Given the description of an element on the screen output the (x, y) to click on. 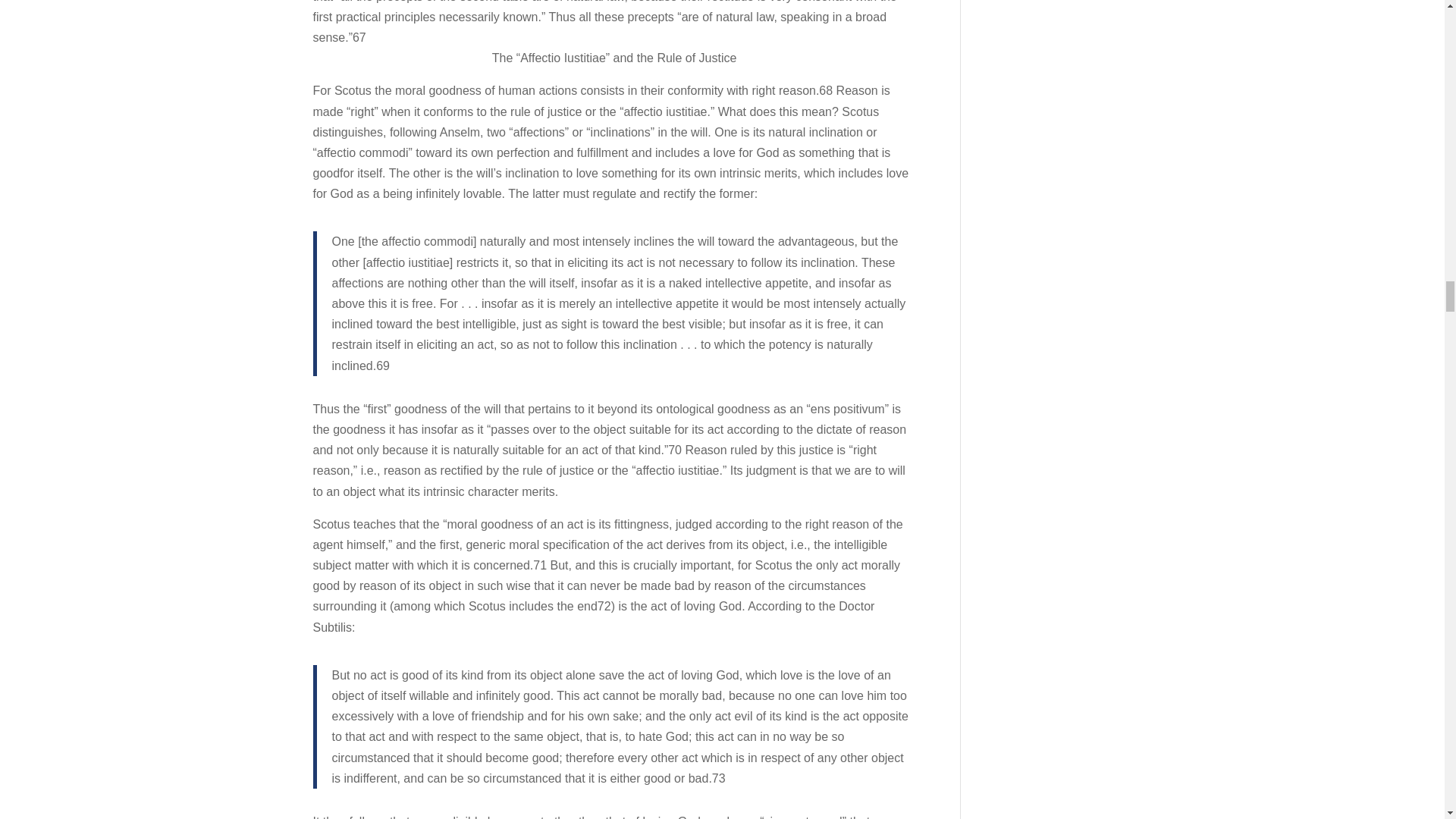
Page 3 (614, 24)
Page 5 (614, 23)
Page 4 (614, 23)
Page 5 (614, 24)
Page 6 (614, 23)
Page 5 (614, 23)
Page 7 (614, 24)
